Given the description of an element on the screen output the (x, y) to click on. 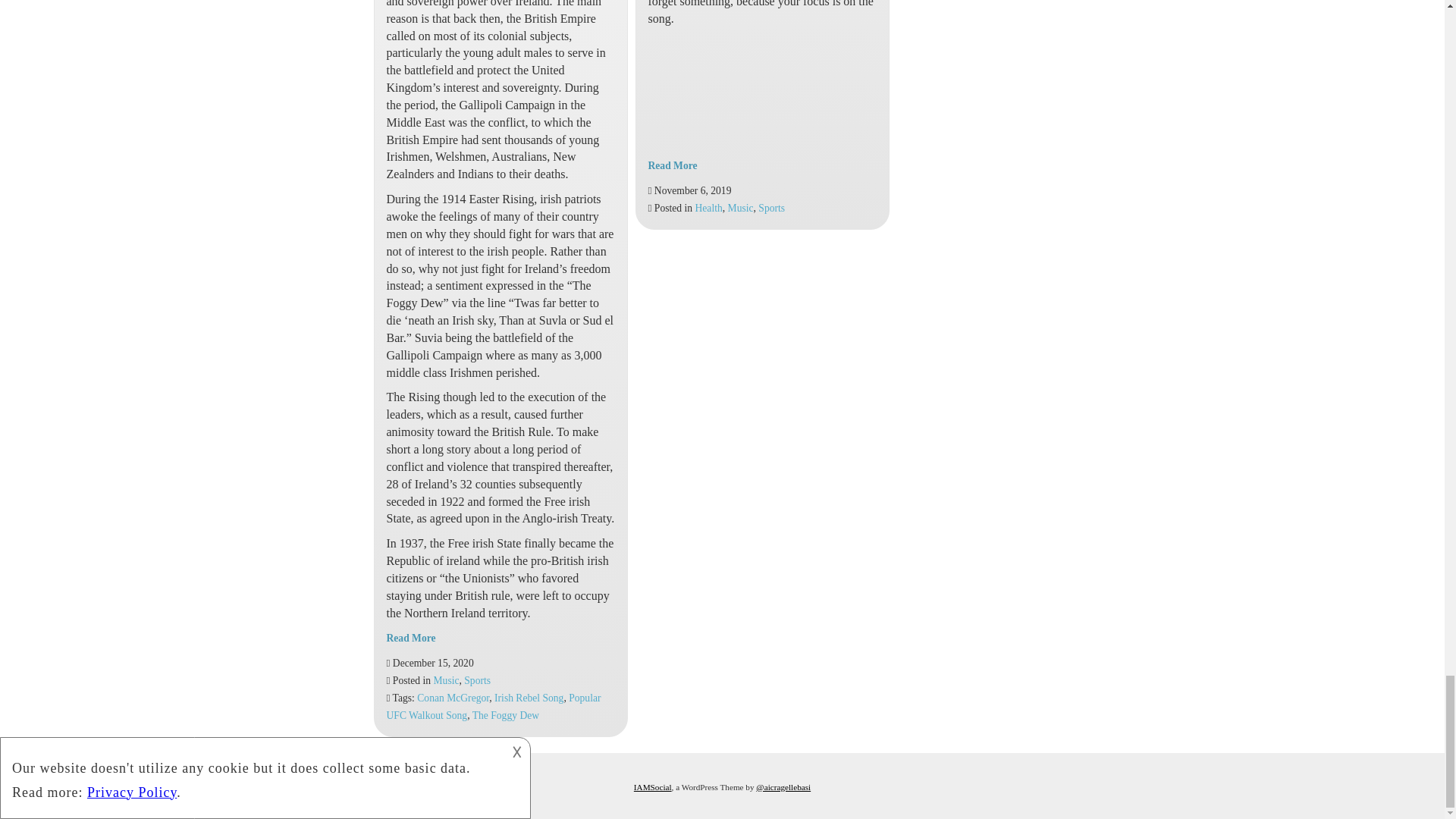
Music (446, 680)
The Foggy Dew (504, 715)
Irish Rebel Song (529, 697)
Read More (411, 637)
Sports (477, 680)
Popular UFC Walkout Song (494, 706)
Conan McGregor (452, 697)
